Given the description of an element on the screen output the (x, y) to click on. 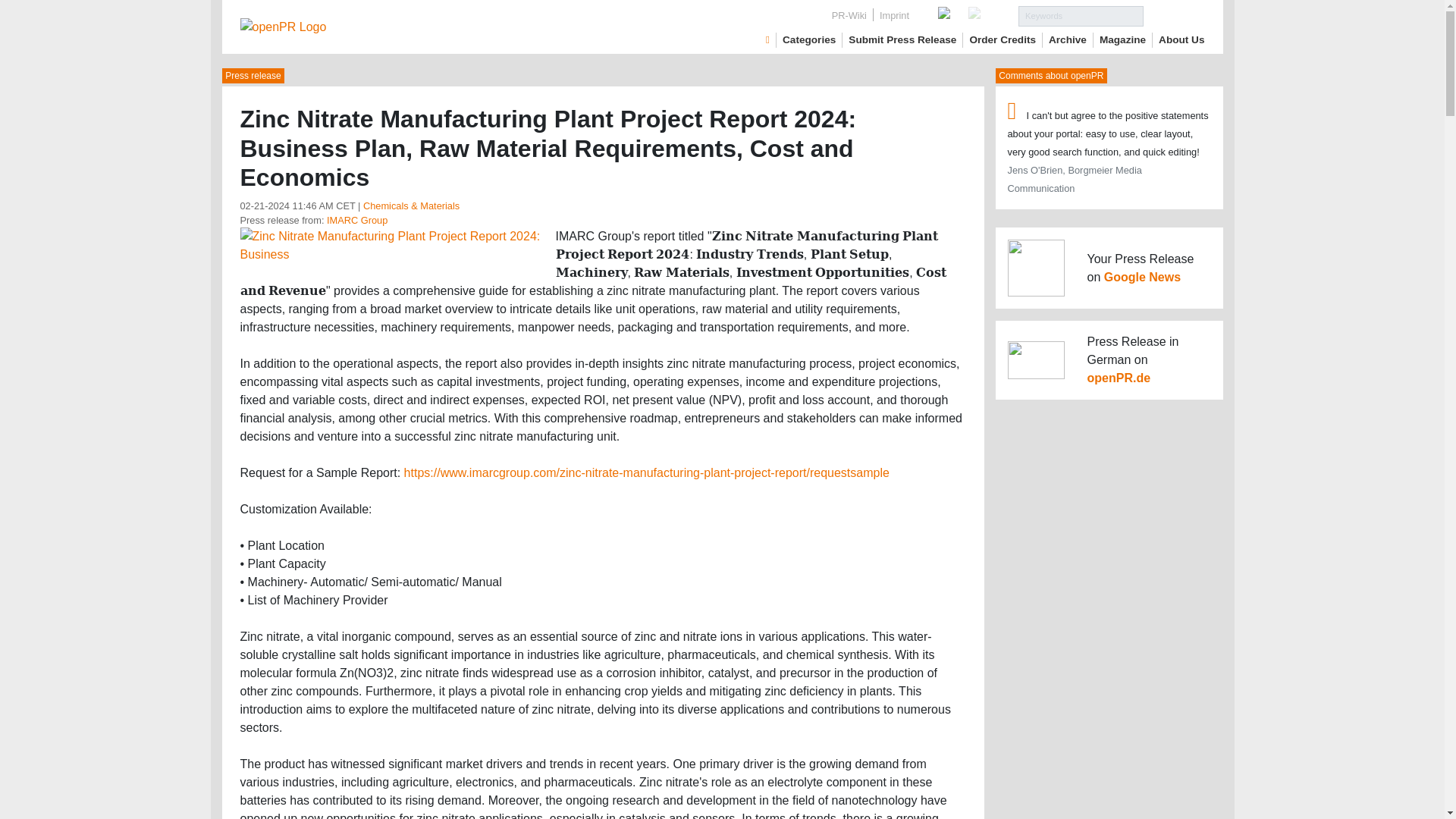
Imprint (894, 15)
Magazine (1122, 39)
Search   (1173, 15)
Categories (809, 39)
PR-Wiki (848, 15)
Archive (1067, 39)
Order Credits (1002, 39)
About Us (1181, 39)
archive und pressrelease of IMARC Group (356, 220)
IMARC Group (356, 220)
Submit Press Release (902, 39)
